Given the description of an element on the screen output the (x, y) to click on. 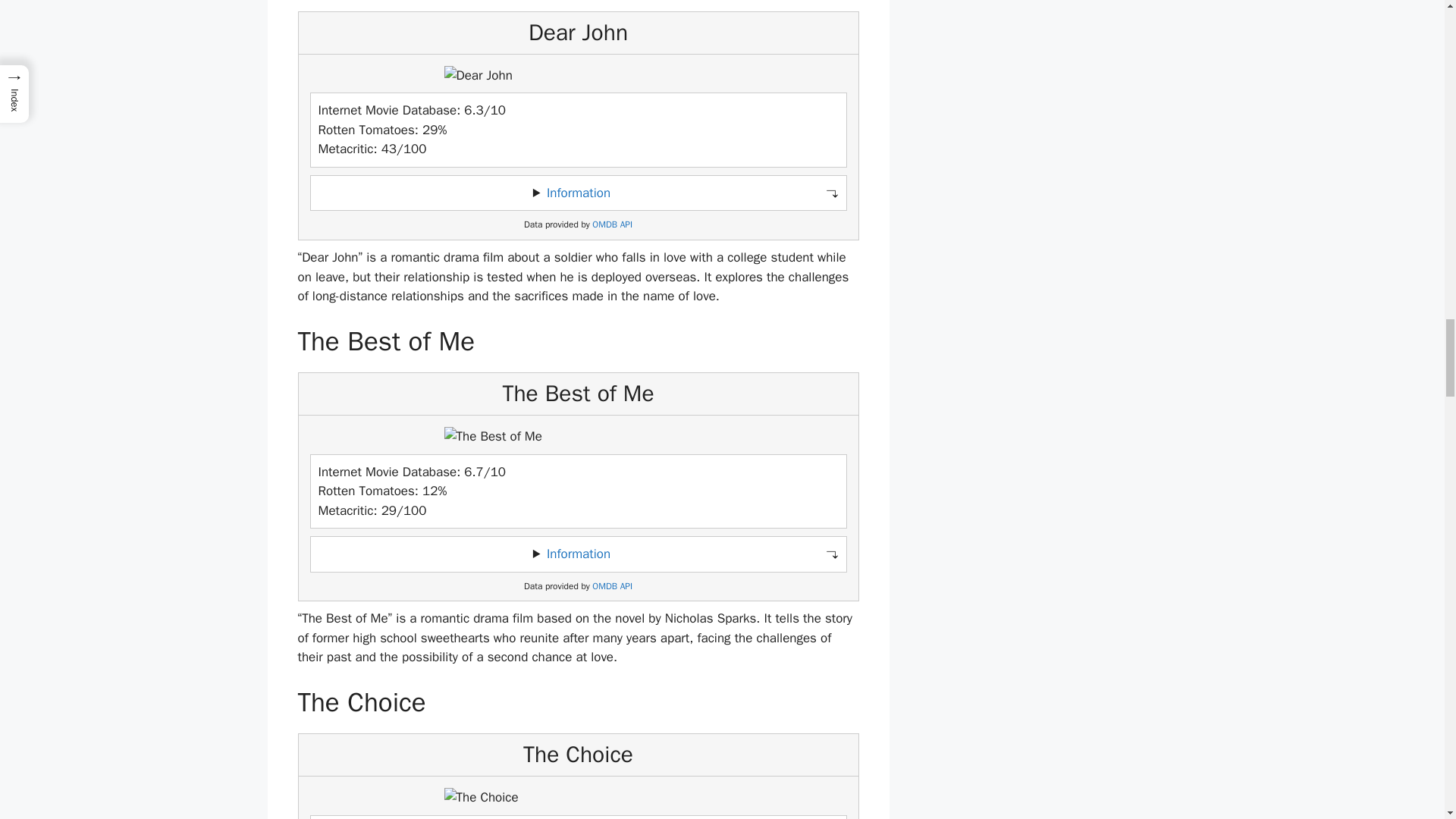
OMDB API (611, 586)
Information (578, 553)
OMDB API (611, 224)
Information (578, 192)
